Given the description of an element on the screen output the (x, y) to click on. 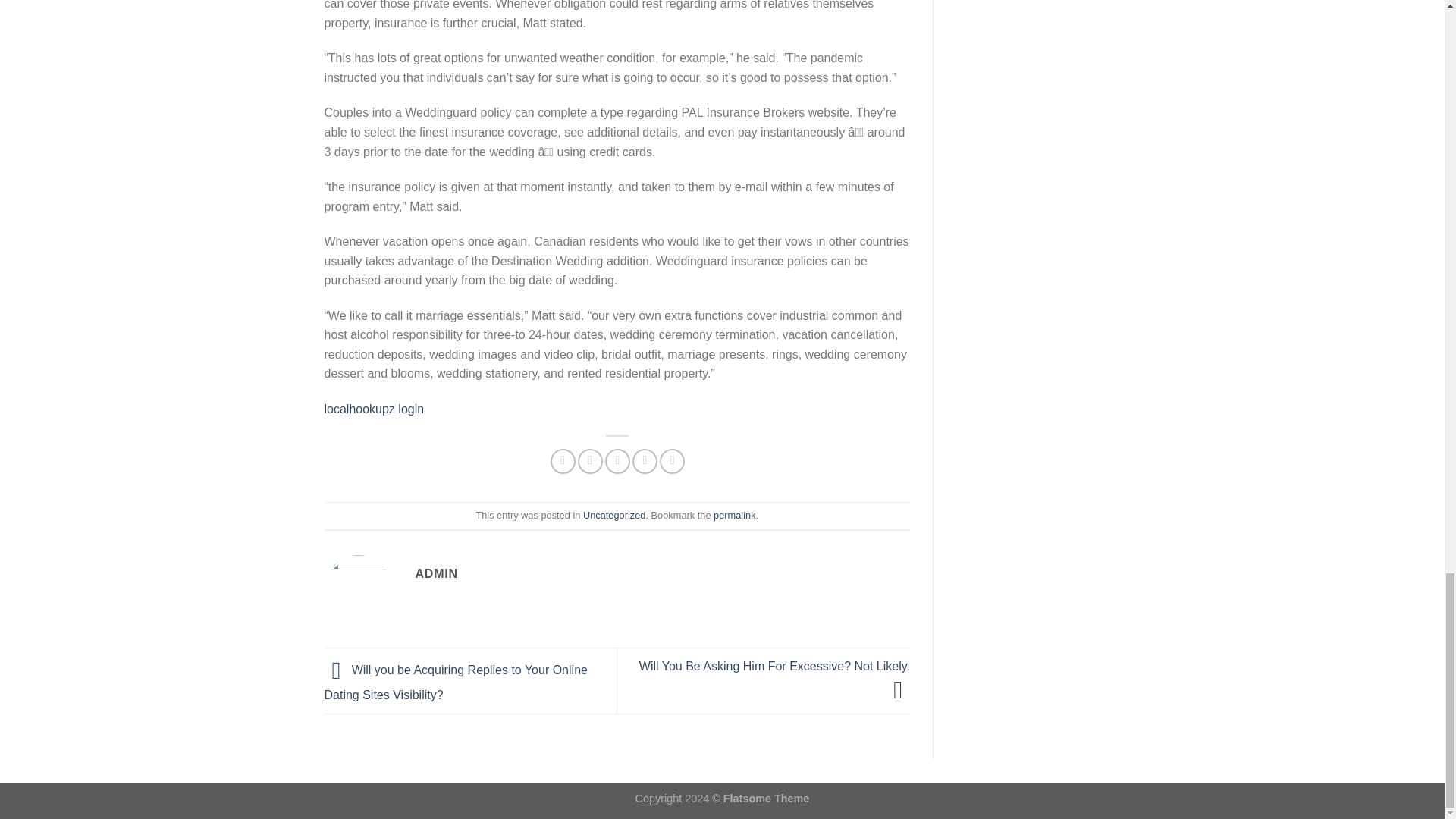
Share on LinkedIn (671, 461)
localhookupz login (374, 408)
Share on Twitter (590, 461)
Share on Facebook (562, 461)
Will You Be Asking Him For Excessive? Not Likely. (774, 678)
permalink (734, 514)
Pin on Pinterest (644, 461)
Uncategorized (614, 514)
Email to a Friend (617, 461)
